Given the description of an element on the screen output the (x, y) to click on. 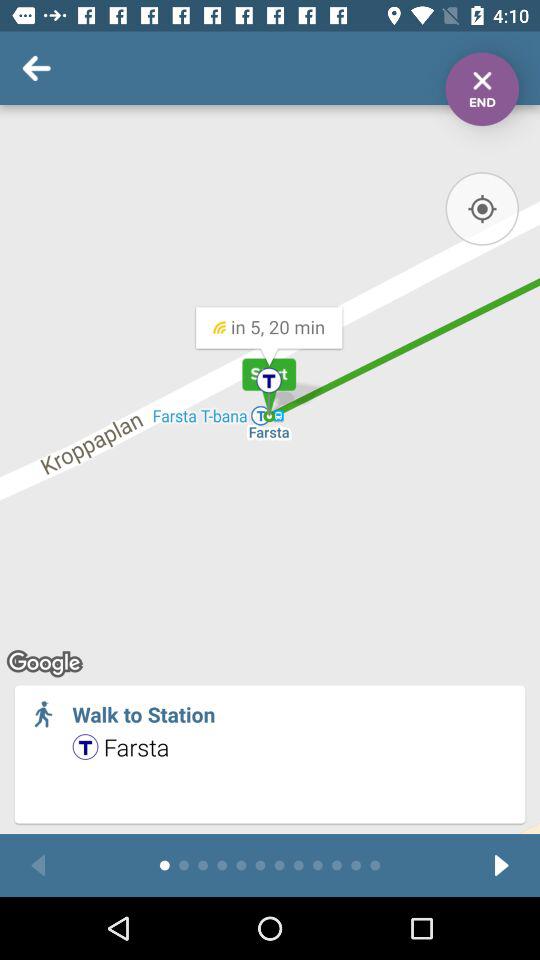
close page (482, 89)
